Given the description of an element on the screen output the (x, y) to click on. 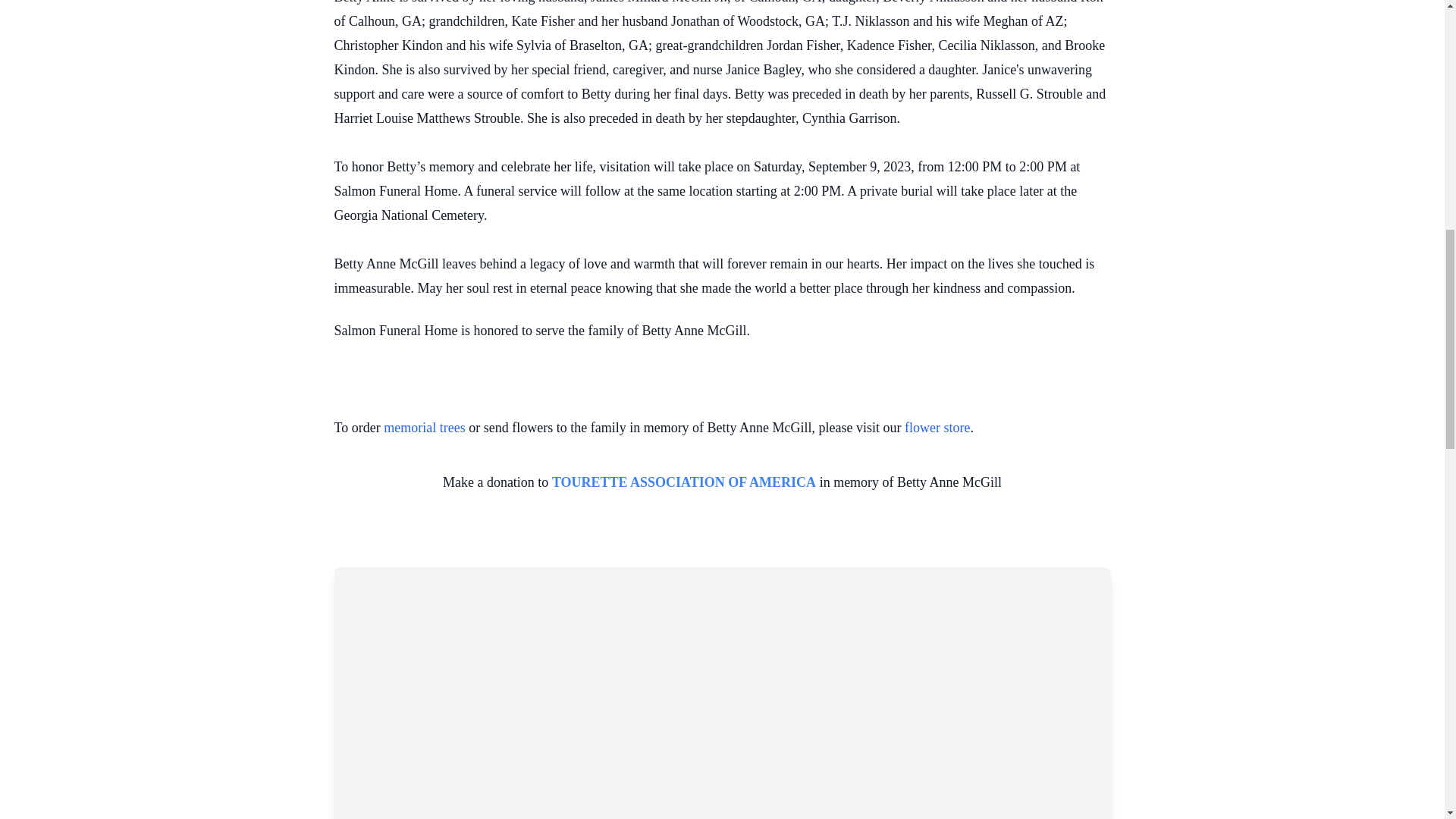
flower store (936, 427)
memorial trees (424, 427)
